Given the description of an element on the screen output the (x, y) to click on. 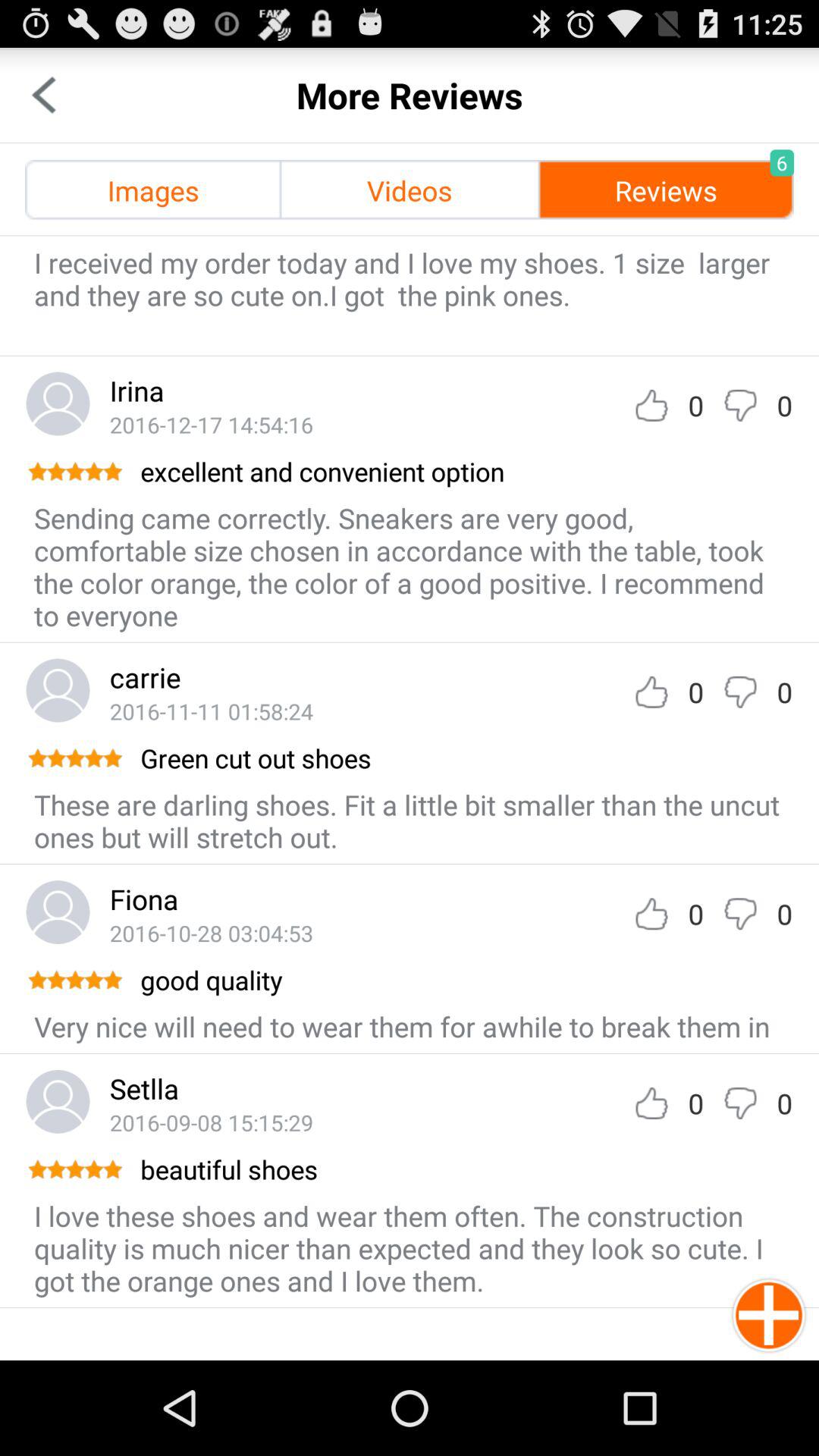
flip to the excellent and convenient icon (465, 471)
